Given the description of an element on the screen output the (x, y) to click on. 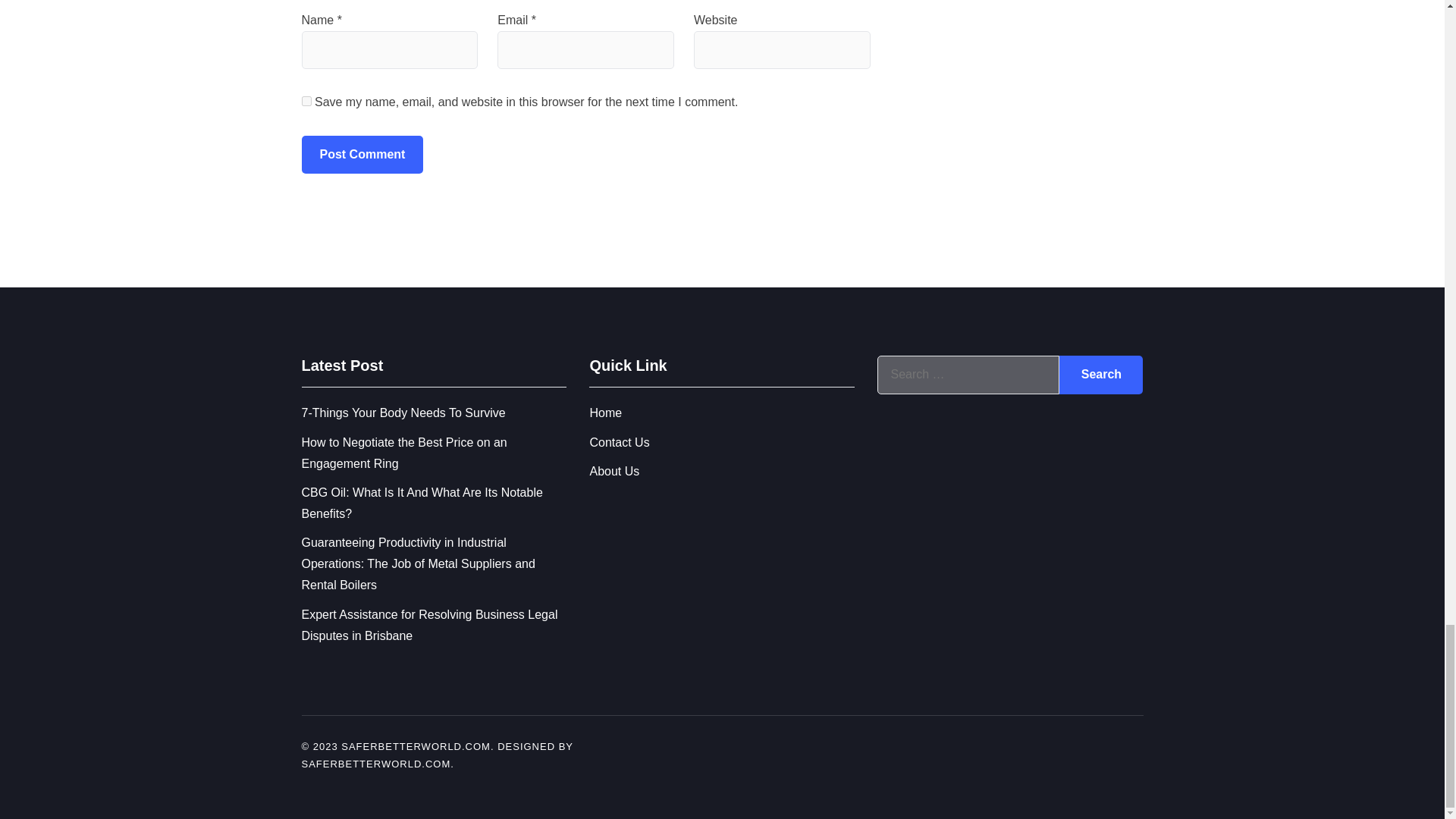
Post Comment (362, 154)
Search (1100, 374)
Search (1100, 374)
yes (306, 101)
